Given the description of an element on the screen output the (x, y) to click on. 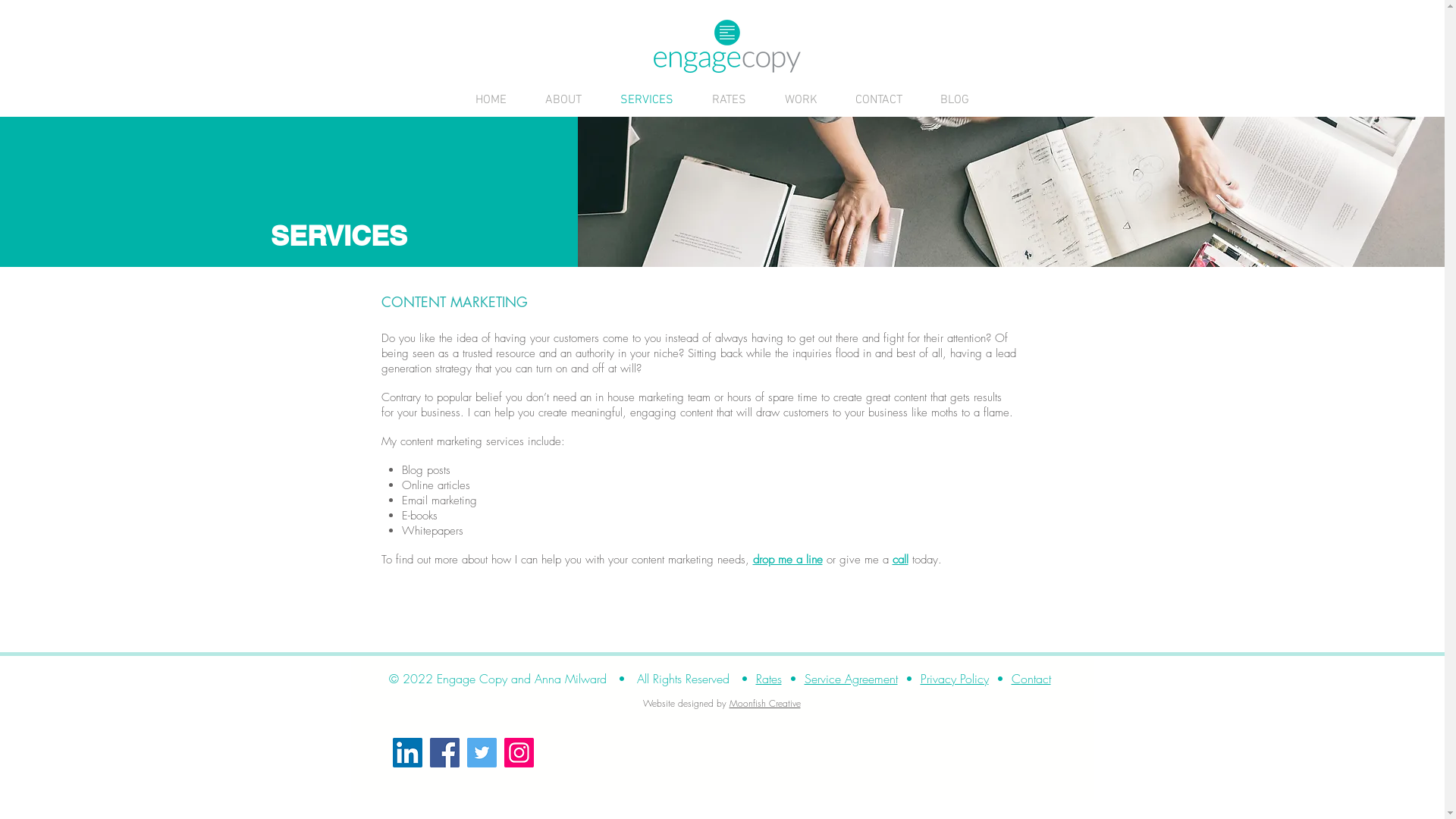
CONTACT Element type: text (877, 100)
Service Agreement Element type: text (850, 678)
HOME Element type: text (491, 100)
WORK Element type: text (800, 100)
call Element type: text (899, 559)
SERVICES Element type: text (646, 100)
Contact Element type: text (1031, 678)
BLOG Element type: text (953, 100)
drop me a line Element type: text (787, 559)
ABOUT Element type: text (563, 100)
Moonfish Creative Element type: text (764, 702)
Rates Element type: text (768, 678)
Privacy Policy Element type: text (954, 678)
RATES Element type: text (729, 100)
